Given the description of an element on the screen output the (x, y) to click on. 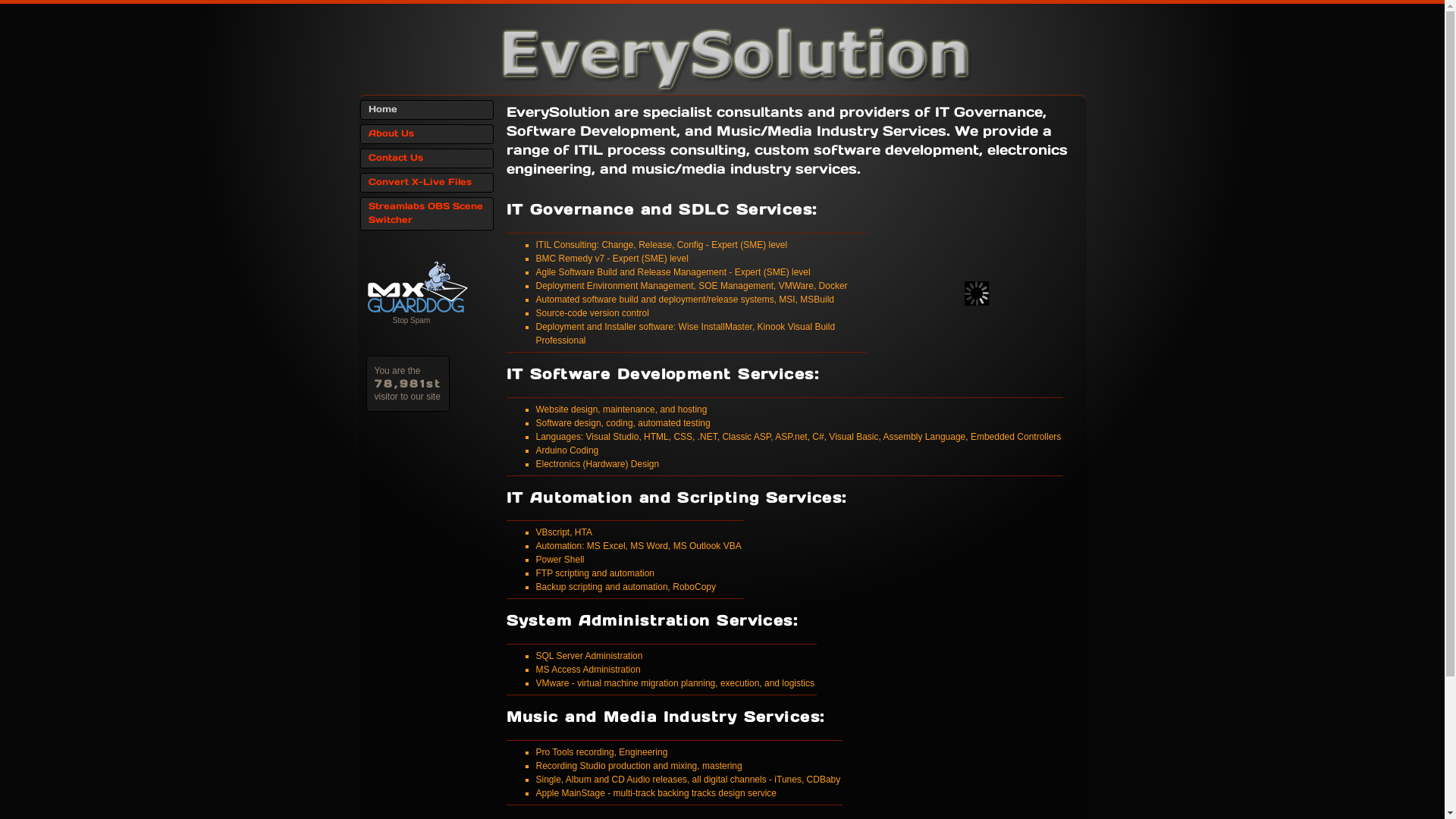
Home Element type: text (425, 109)
About Us Element type: text (425, 134)
Contact Us Element type: text (425, 158)
Stop Spam Element type: text (411, 320)
Streamlabs OBS Scene Switcher Element type: text (425, 213)
Convert X-Live Files Element type: text (425, 182)
